Given the description of an element on the screen output the (x, y) to click on. 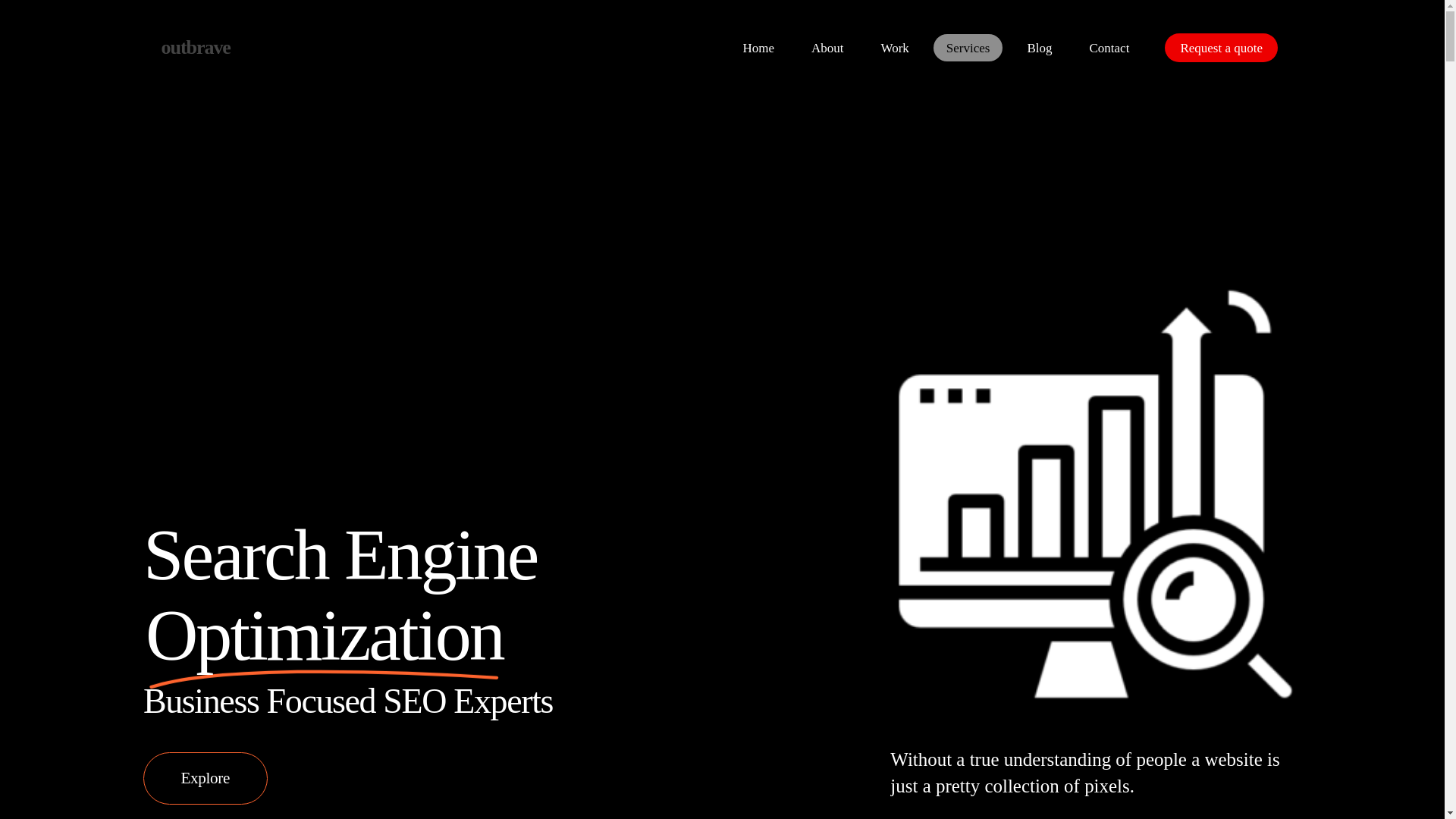
Work (894, 47)
About (827, 47)
Request a quote (1221, 47)
Services (968, 47)
Contact (1109, 47)
Explore (205, 778)
outbrave (195, 47)
Home (758, 47)
Blog (1038, 47)
